Given the description of an element on the screen output the (x, y) to click on. 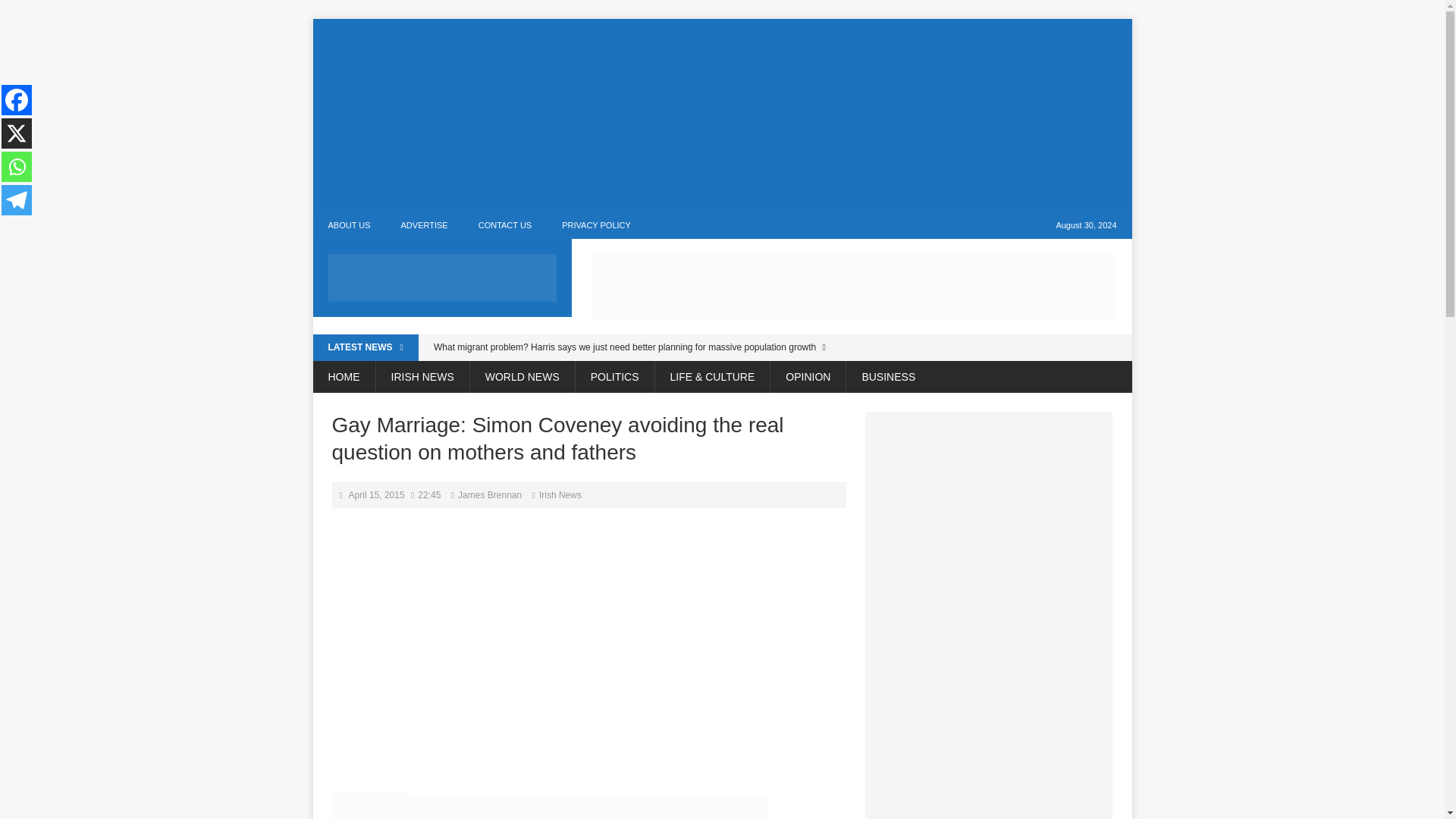
Facebook (16, 100)
Whatsapp (16, 166)
Irish News (559, 494)
POLITICS (614, 377)
WORLD NEWS (521, 377)
OPINION (807, 377)
IRISH NEWS (421, 377)
PRIVACY POLICY (596, 225)
TheLiberal.ie - Our News, Your Views (442, 277)
